Given the description of an element on the screen output the (x, y) to click on. 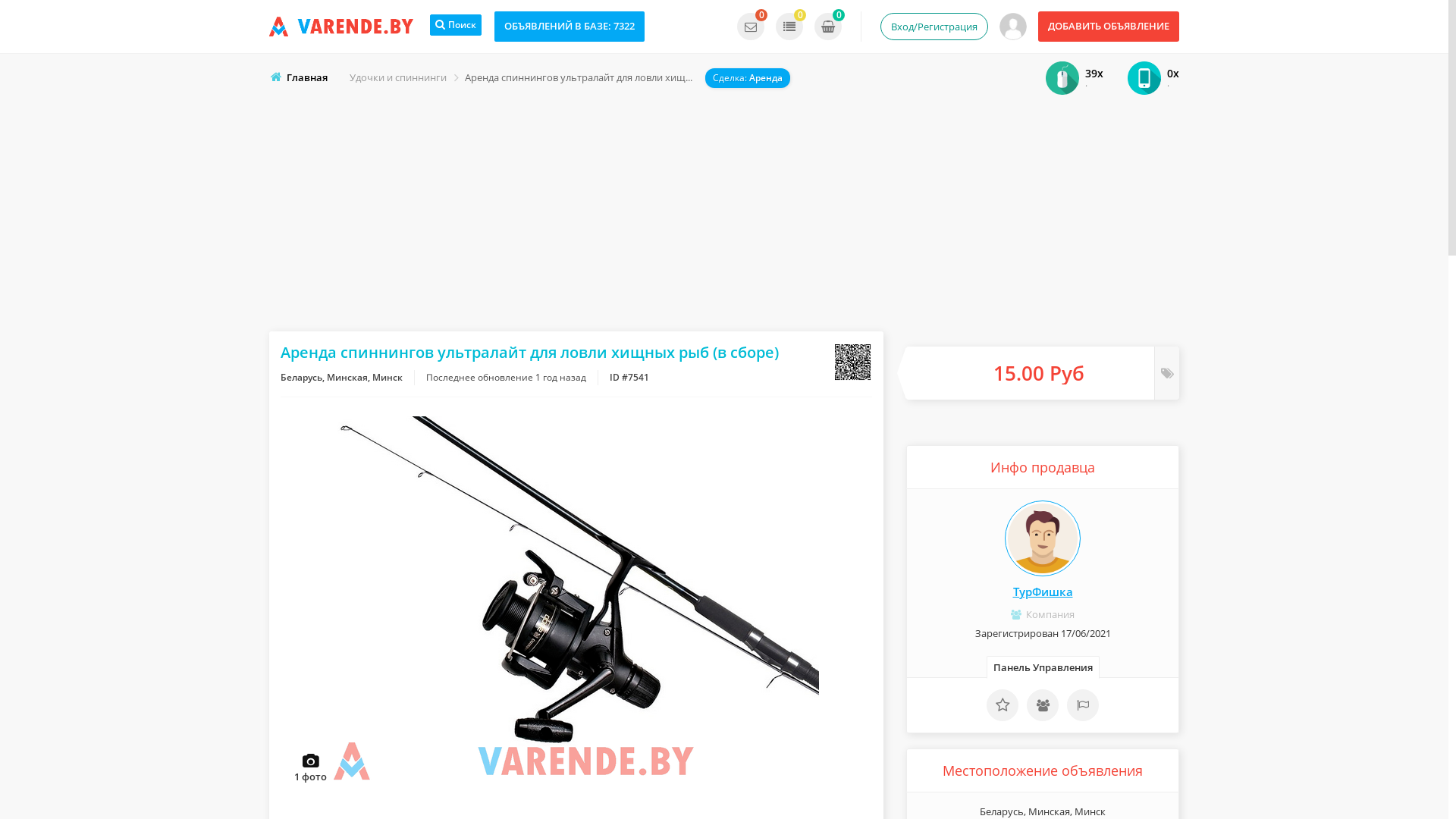
0 Element type: text (789, 26)
0 Element type: text (827, 26)
0 Element type: text (750, 26)
Advertisement Element type: hover (724, 209)
